Given the description of an element on the screen output the (x, y) to click on. 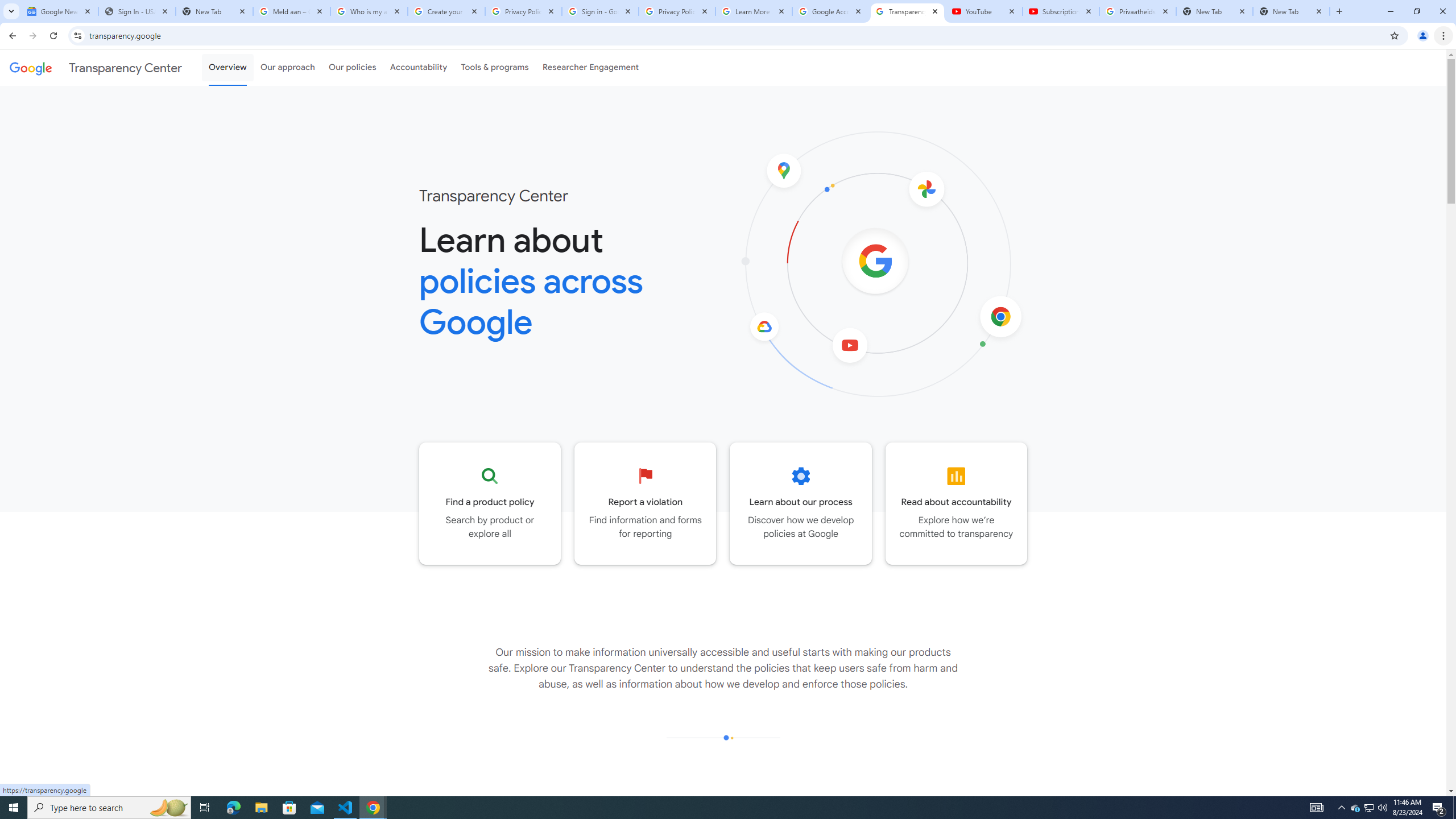
YouTube (983, 11)
Accountability (418, 67)
Google Account (830, 11)
Go to the Our process page (800, 503)
Our approach (287, 67)
